Given the description of an element on the screen output the (x, y) to click on. 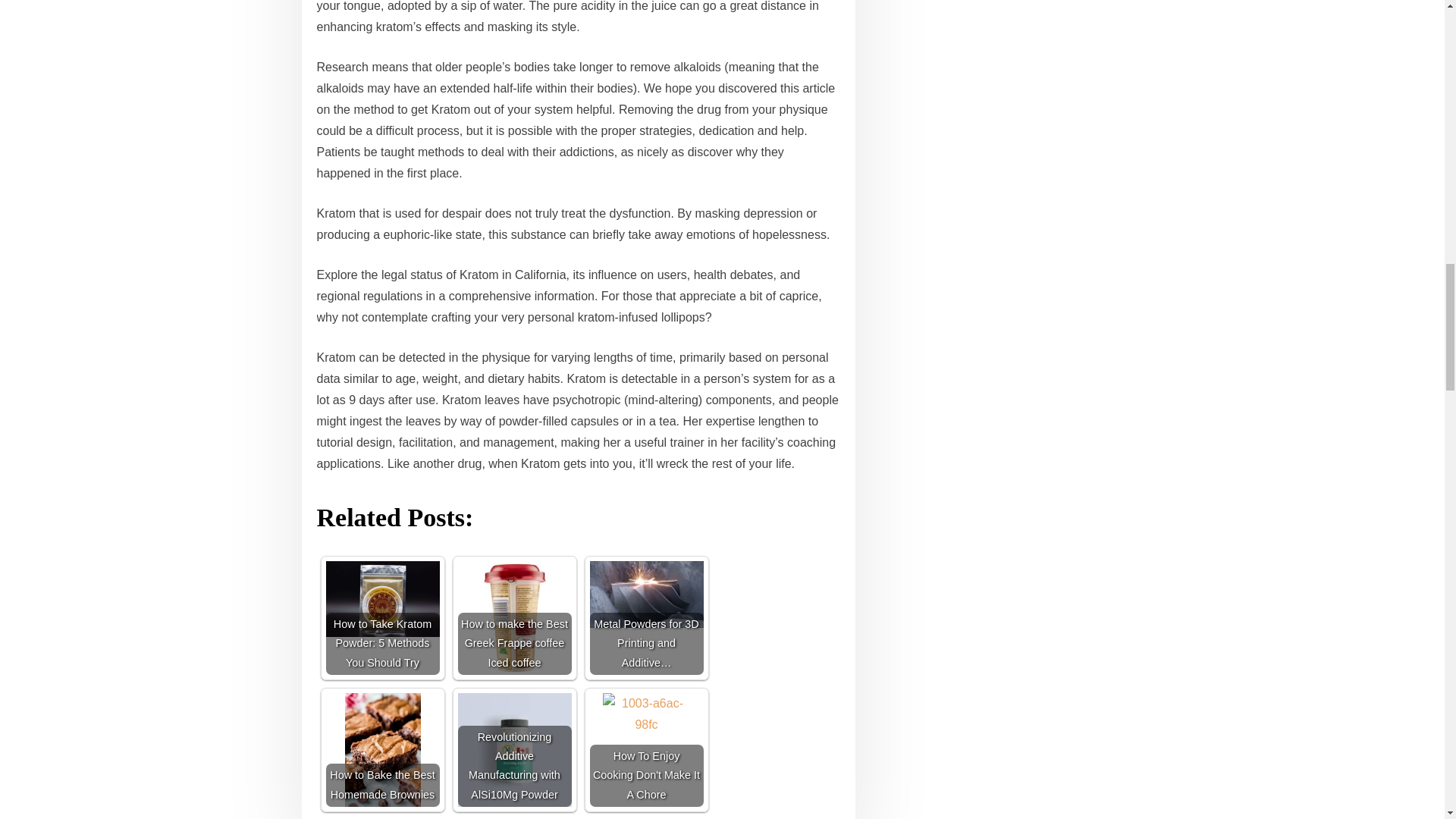
How to make the Best Greek Frappe coffee Iced coffee (515, 617)
Revolutionizing Additive Manufacturing with AlSi10Mg Powder (515, 749)
How To Enjoy Cooking Don't Make It A Chore (646, 749)
How to Take Kratom Powder: 5 Methods You Should Try (382, 617)
Revolutionizing Additive Manufacturing with AlSi10Mg Powder (515, 749)
How to Bake the Best Homemade Brownies (381, 749)
How to make the Best Greek Frappe coffee Iced coffee (515, 617)
How to Take Kratom Powder: 5 Methods You Should Try (382, 599)
How To Enjoy Cooking Don't Make It A Chore (646, 749)
How to Bake the Best Homemade Brownies (382, 749)
